Given the description of an element on the screen output the (x, y) to click on. 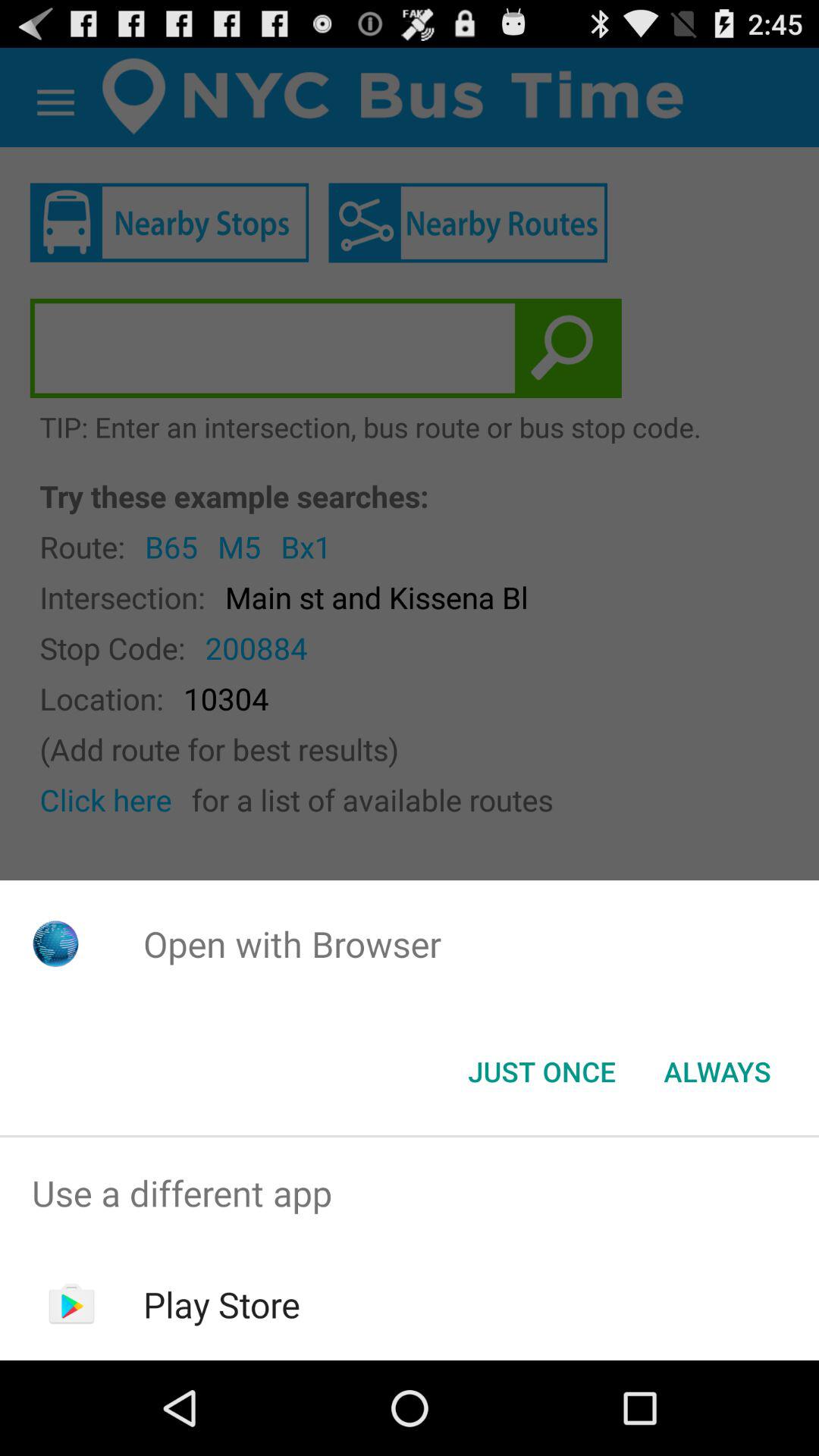
scroll to use a different app (409, 1192)
